Given the description of an element on the screen output the (x, y) to click on. 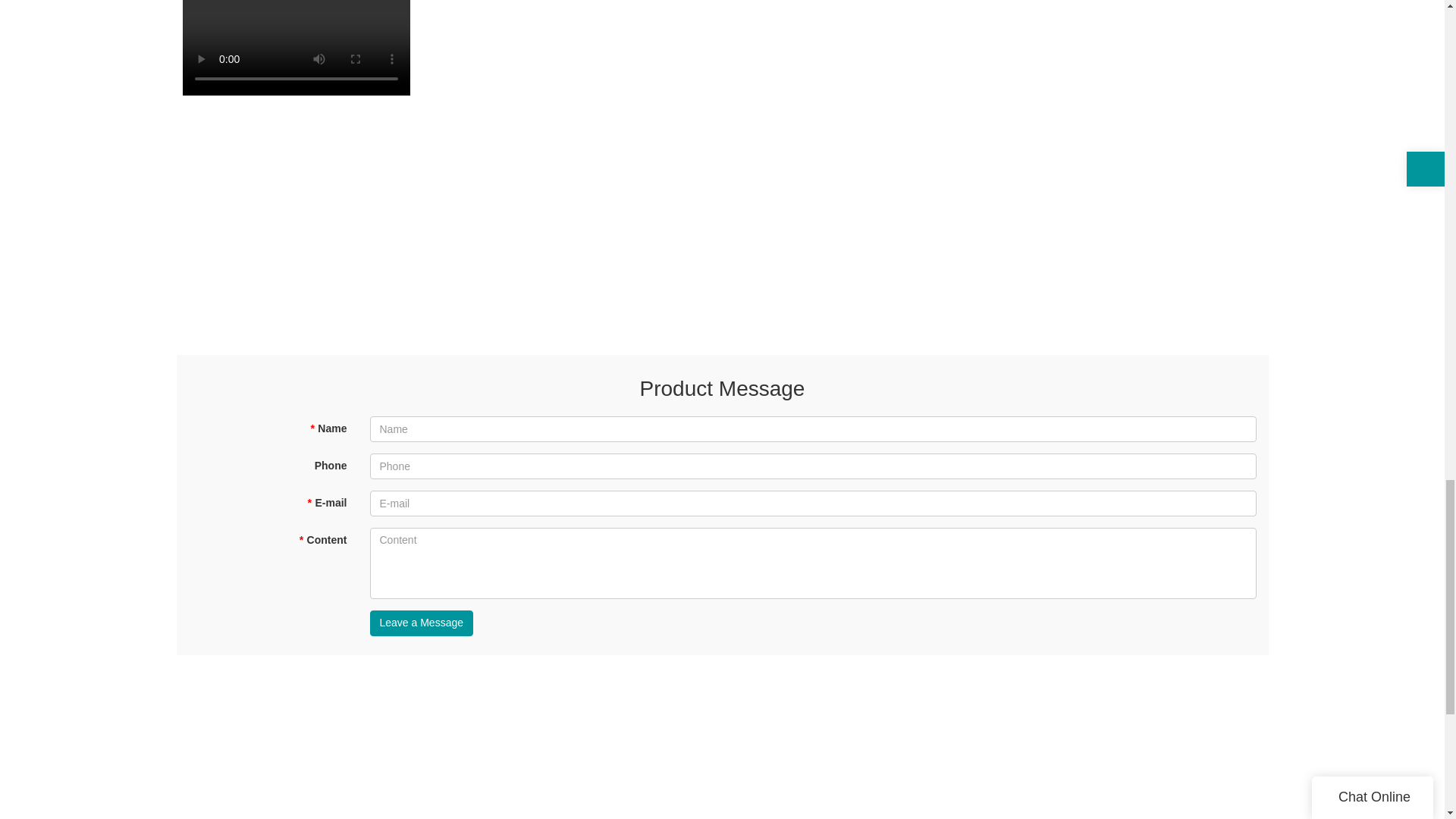
Leave a Message (421, 623)
